Given the description of an element on the screen output the (x, y) to click on. 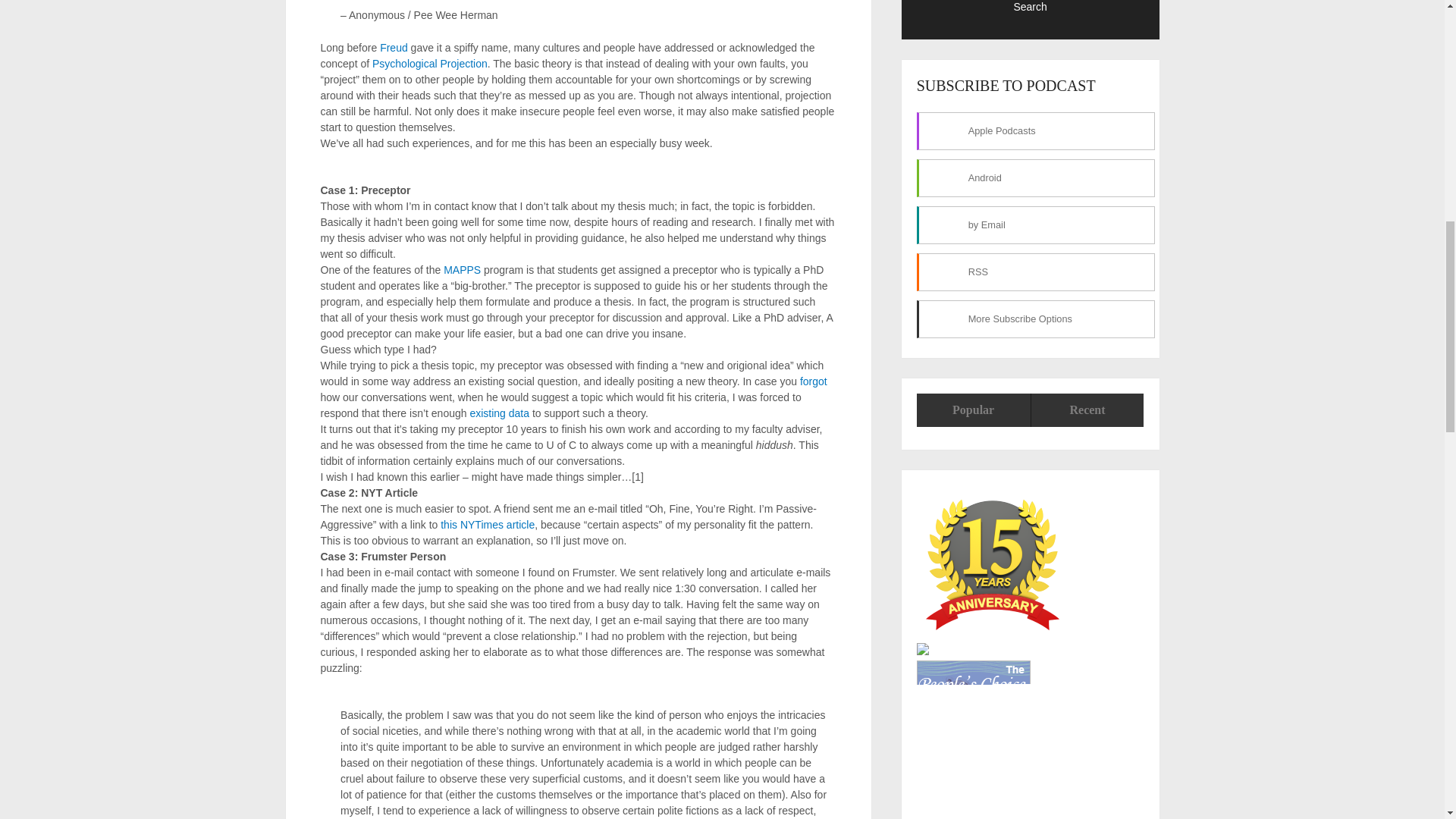
Psychological Projection (429, 63)
Freud (393, 46)
existing data (498, 412)
MAPPS (462, 269)
forgot (813, 380)
this NYTimes article (487, 524)
